Given the description of an element on the screen output the (x, y) to click on. 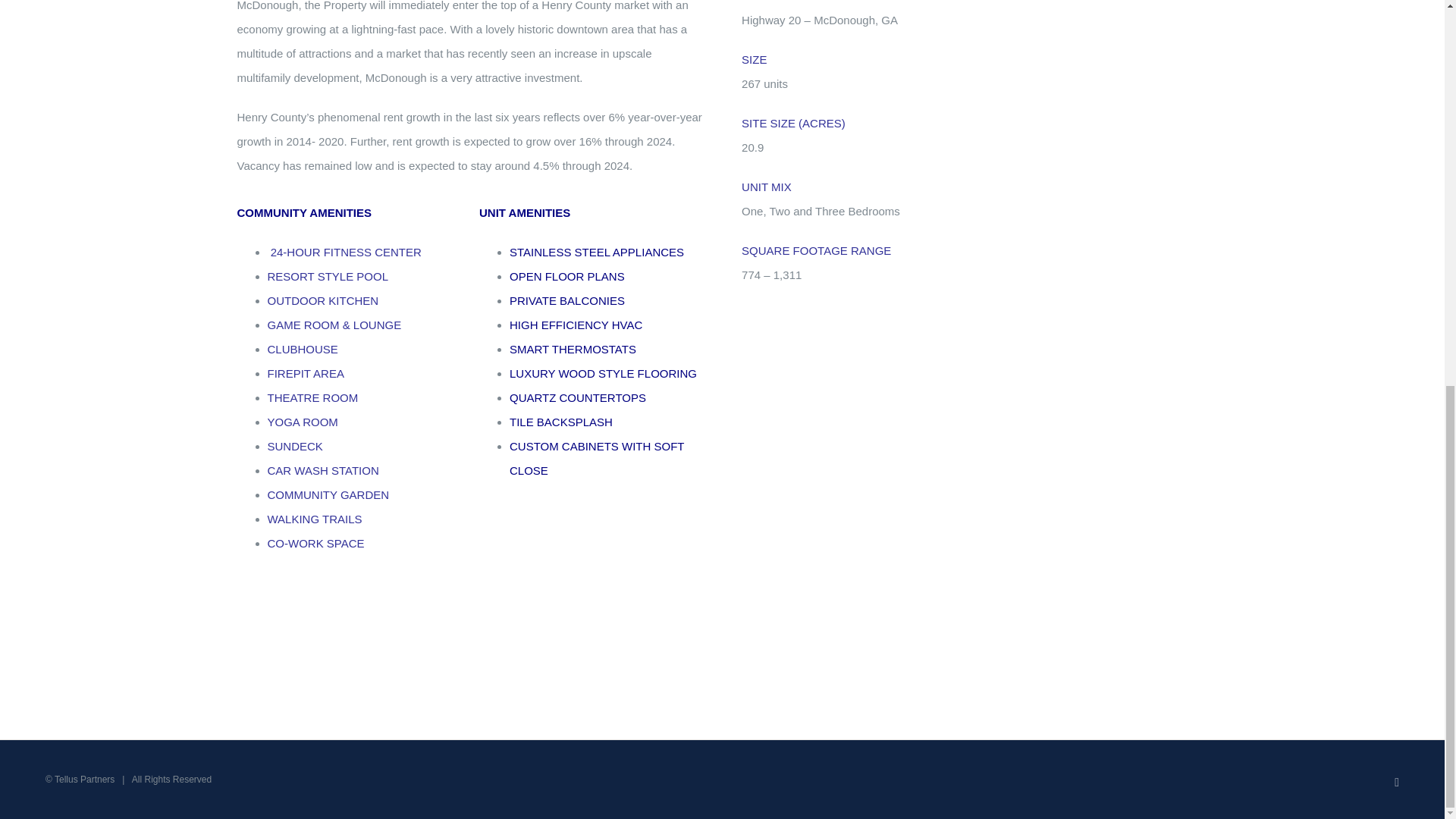
LinkedIn (1396, 782)
Tellus Partners (85, 778)
LinkedIn (1396, 782)
